Given the description of an element on the screen output the (x, y) to click on. 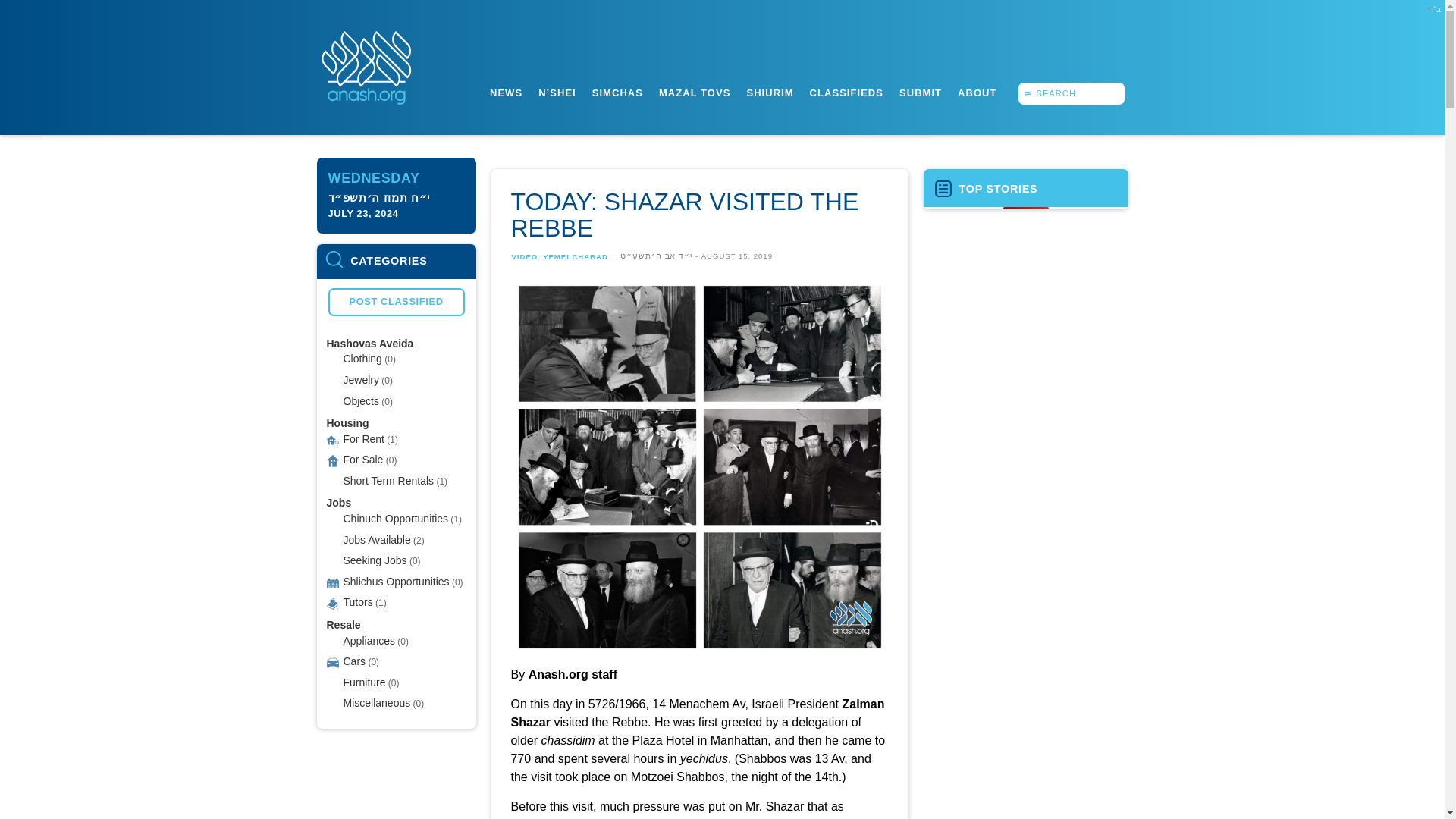
Jewelry (360, 379)
Hashovas Aveida (369, 343)
SIMCHAS (617, 93)
ABOUT (976, 93)
Objects (360, 401)
Clothing (361, 358)
For Sale (362, 459)
POST CLASSIFIED (395, 302)
Housing (347, 422)
SHIURIM (769, 93)
Appliances (368, 640)
SUBMIT (919, 93)
CLASSIFIEDS (846, 93)
Resale (342, 624)
For Rent (363, 438)
